Given the description of an element on the screen output the (x, y) to click on. 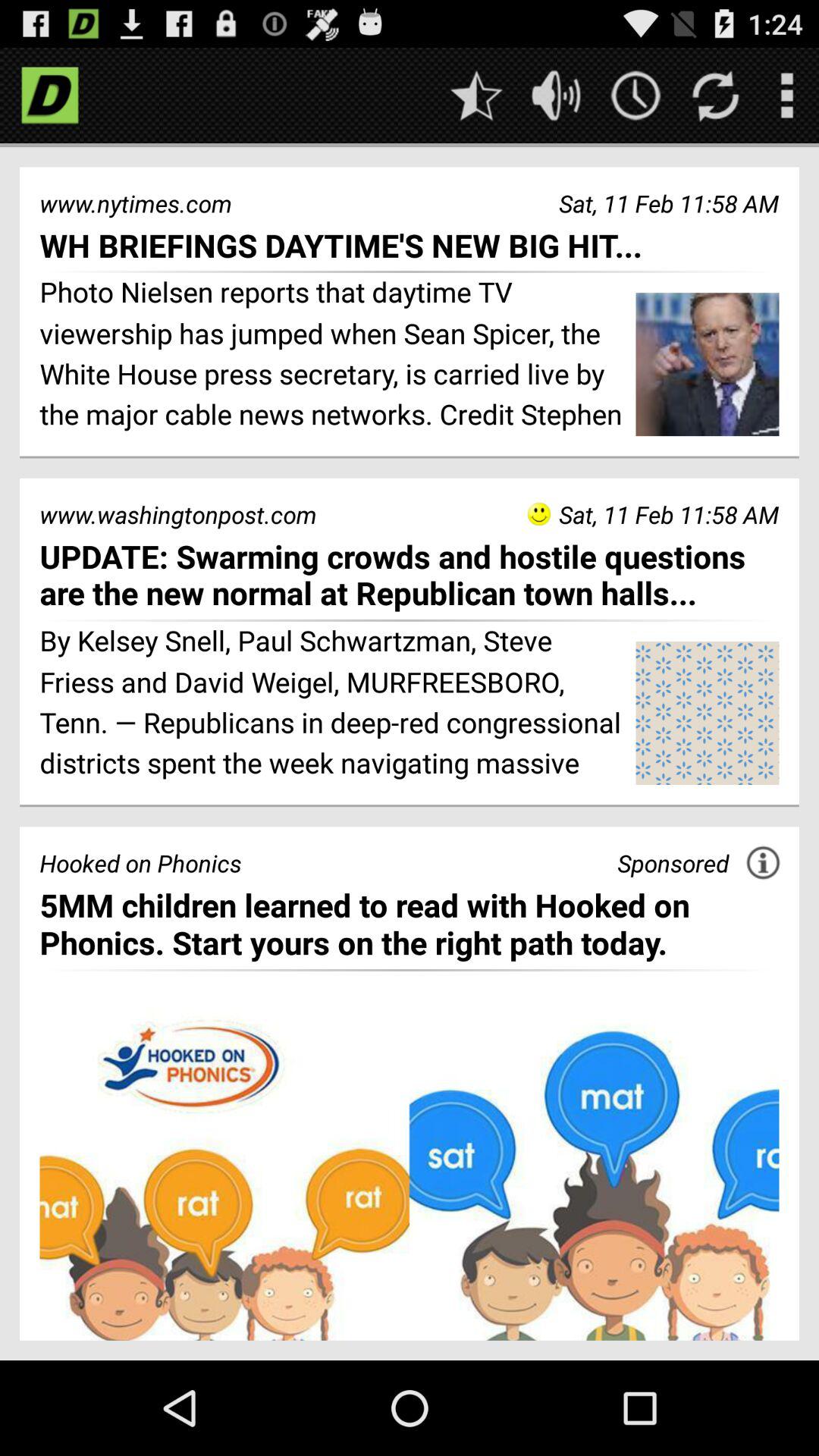
set alarm (635, 95)
